Given the description of an element on the screen output the (x, y) to click on. 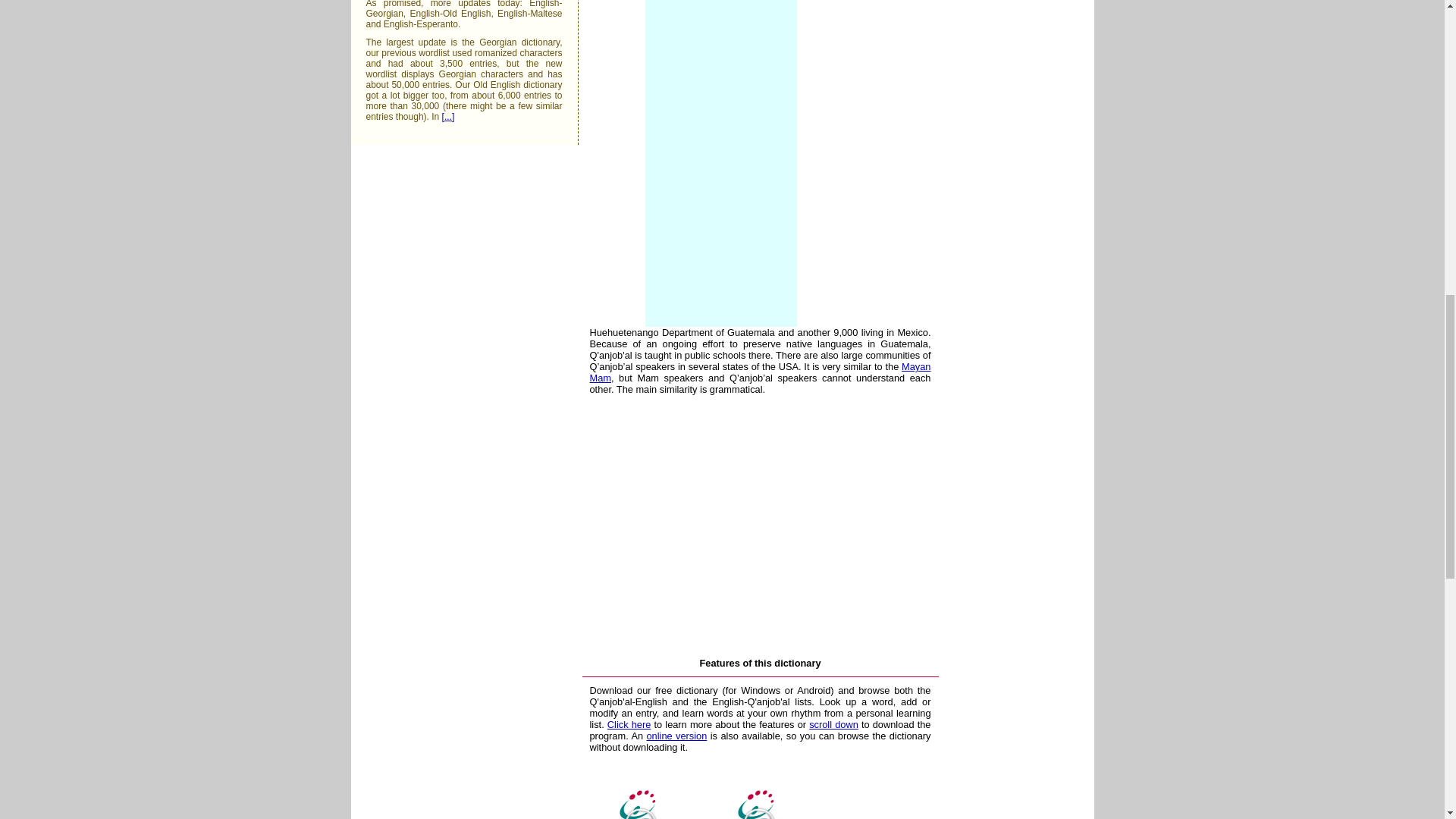
online version (676, 736)
Click here (628, 724)
scroll down (834, 724)
Mayan Mam (760, 372)
